Given the description of an element on the screen output the (x, y) to click on. 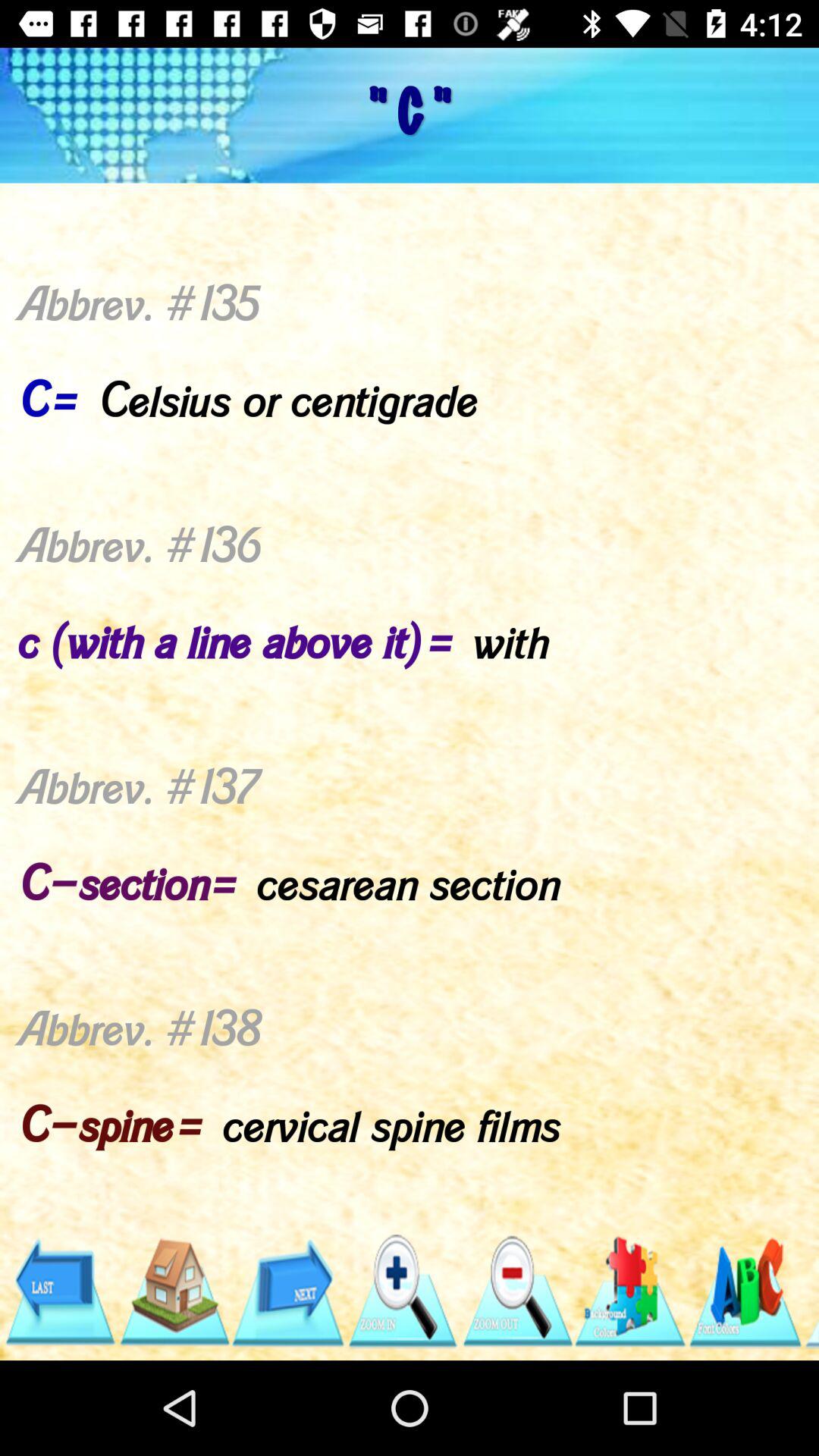
shows forward aero mark (287, 1291)
